Given the description of an element on the screen output the (x, y) to click on. 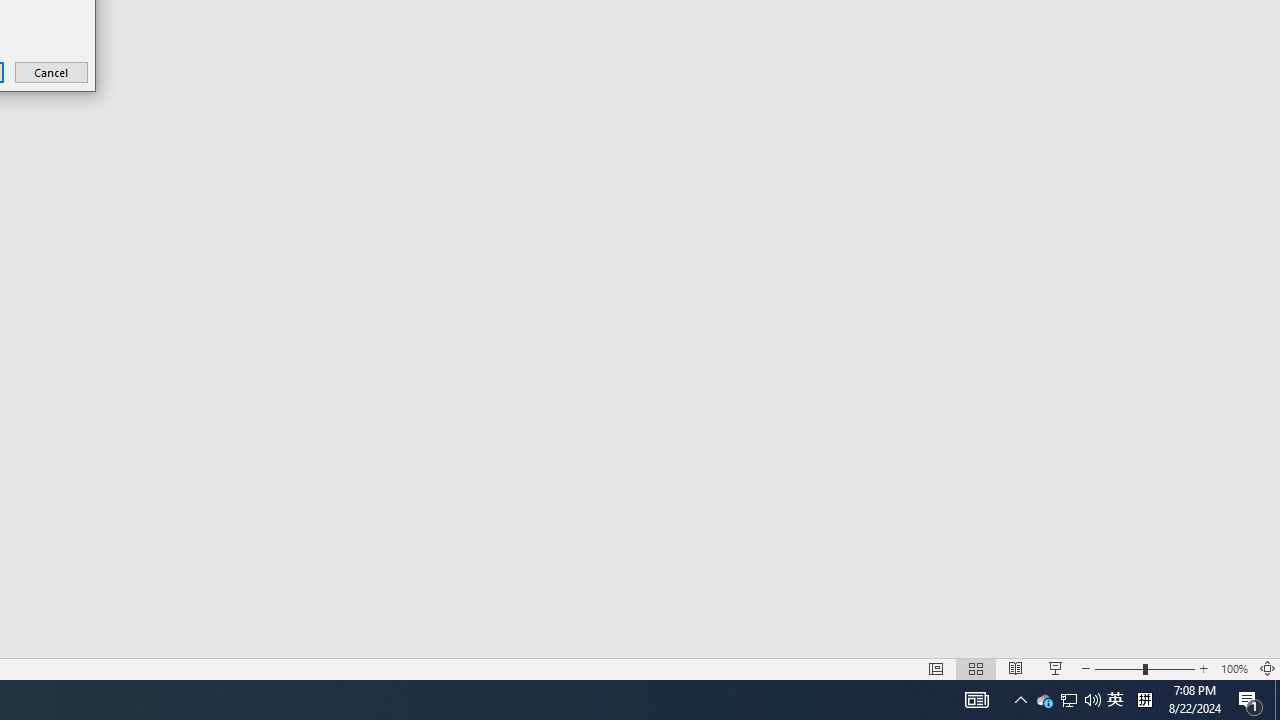
Cancel (51, 72)
